Given the description of an element on the screen output the (x, y) to click on. 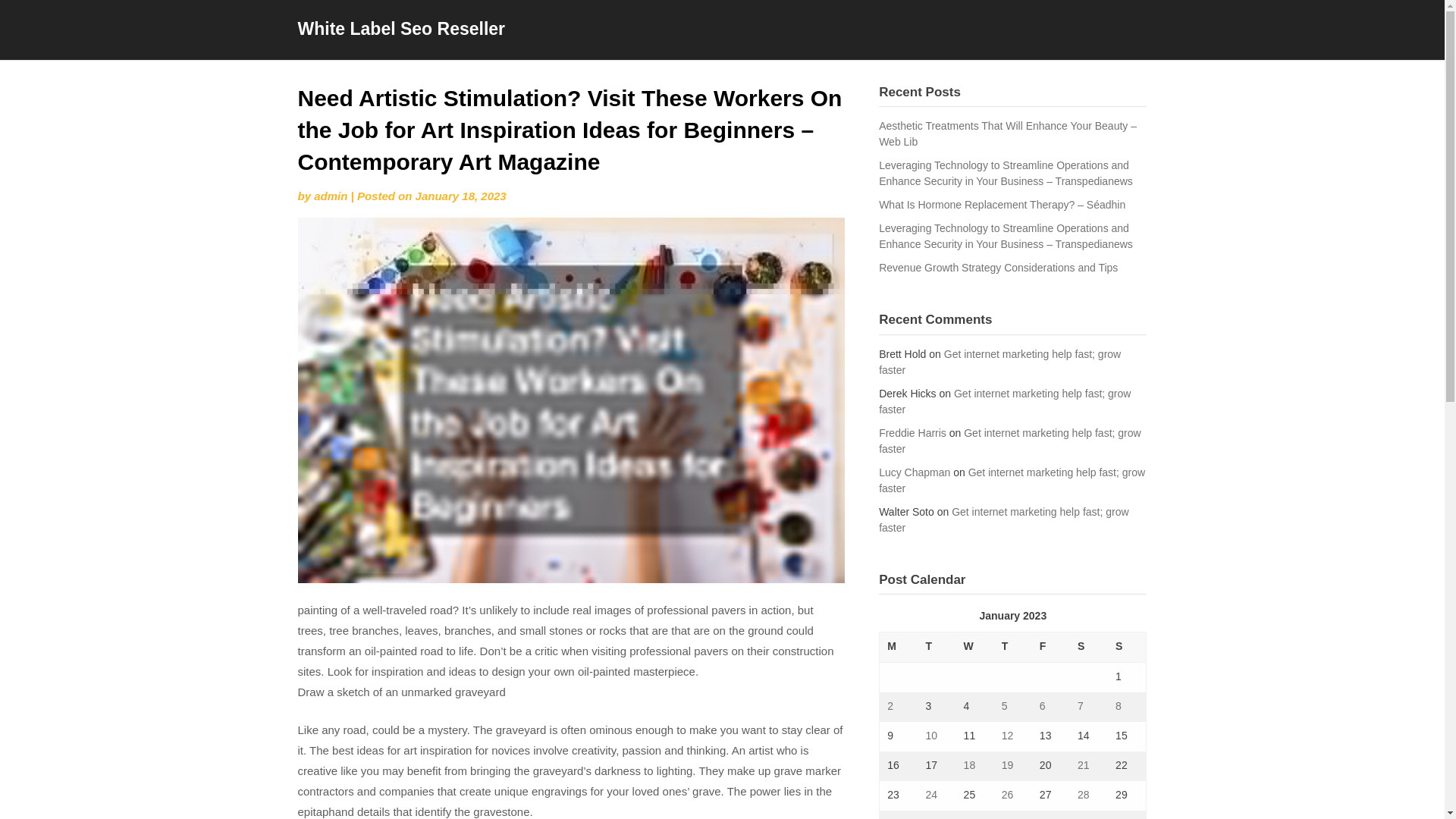
Get internet marketing help fast; grow faster (1011, 480)
Get internet marketing help fast; grow faster (1003, 519)
Lucy Chapman (914, 472)
21 (1083, 765)
admin (330, 195)
Thursday (1013, 647)
Get internet marketing help fast; grow faster (1010, 440)
Freddie Harris (912, 432)
Saturday (1089, 647)
18 (969, 765)
